Given the description of an element on the screen output the (x, y) to click on. 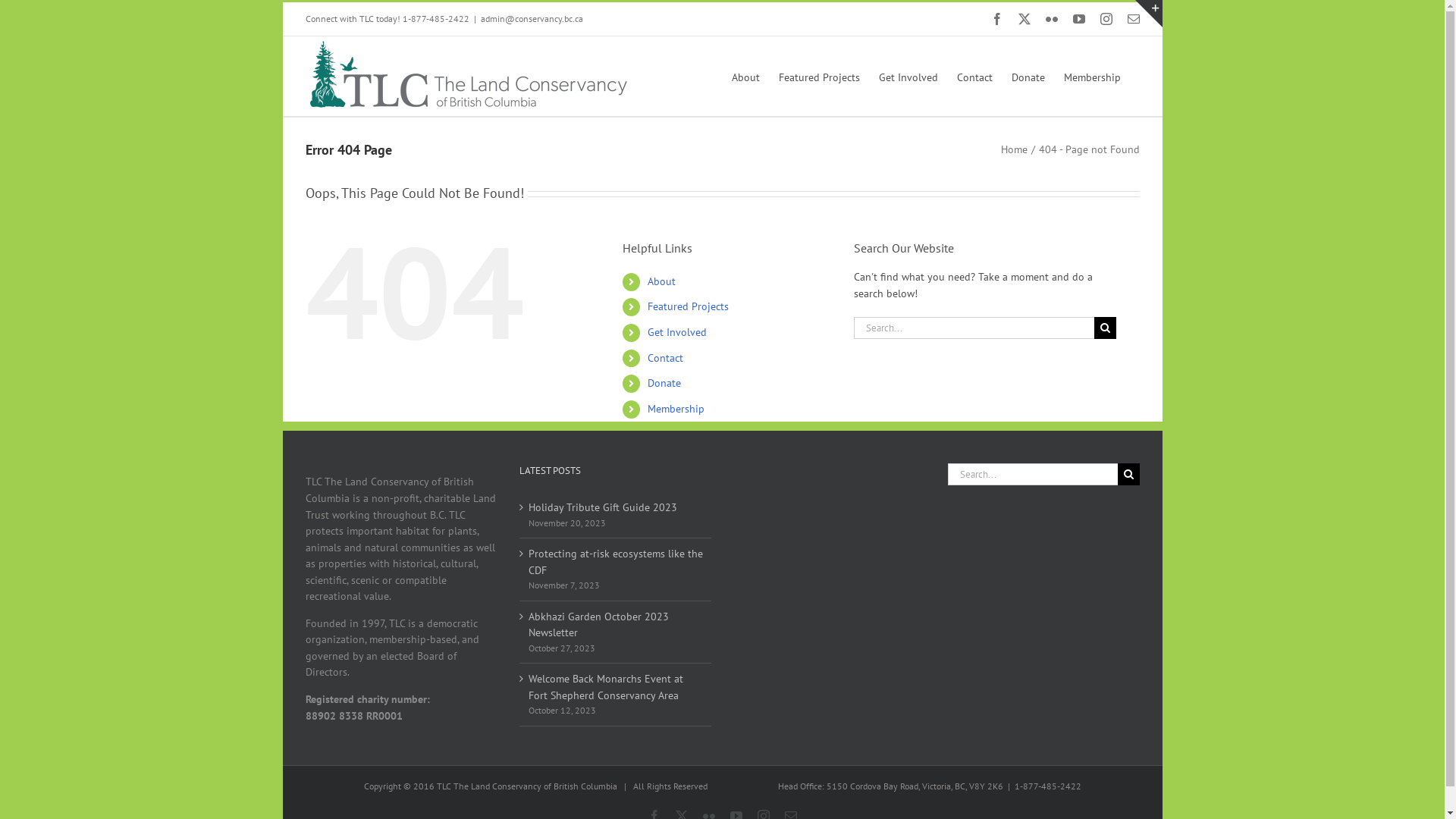
Email Element type: text (1132, 18)
Flickr Element type: text (1050, 18)
Home Element type: text (1014, 149)
YouTube Element type: text (1078, 18)
Abkhazi Garden October 2023 Newsletter Element type: text (615, 624)
Contact Element type: text (974, 76)
admin@conservancy.bc.ca Element type: text (531, 18)
Donate Element type: text (663, 382)
Toggle Sliding Bar Area Element type: text (1147, 13)
Featured Projects Element type: text (687, 306)
Facebook Element type: text (996, 18)
Featured Projects Element type: text (818, 76)
About Element type: text (745, 76)
Contact Element type: text (665, 357)
About Element type: text (661, 281)
Get Involved Element type: text (676, 331)
Membership Element type: text (675, 408)
Holiday Tribute Gift Guide 2023 Element type: text (615, 507)
Donate Element type: text (1027, 76)
Protecting at-risk ecosystems like the CDF Element type: text (615, 562)
Membership Element type: text (1091, 76)
Get Involved Element type: text (907, 76)
Instagram Element type: text (1105, 18)
Twitter Element type: text (1023, 18)
